Given the description of an element on the screen output the (x, y) to click on. 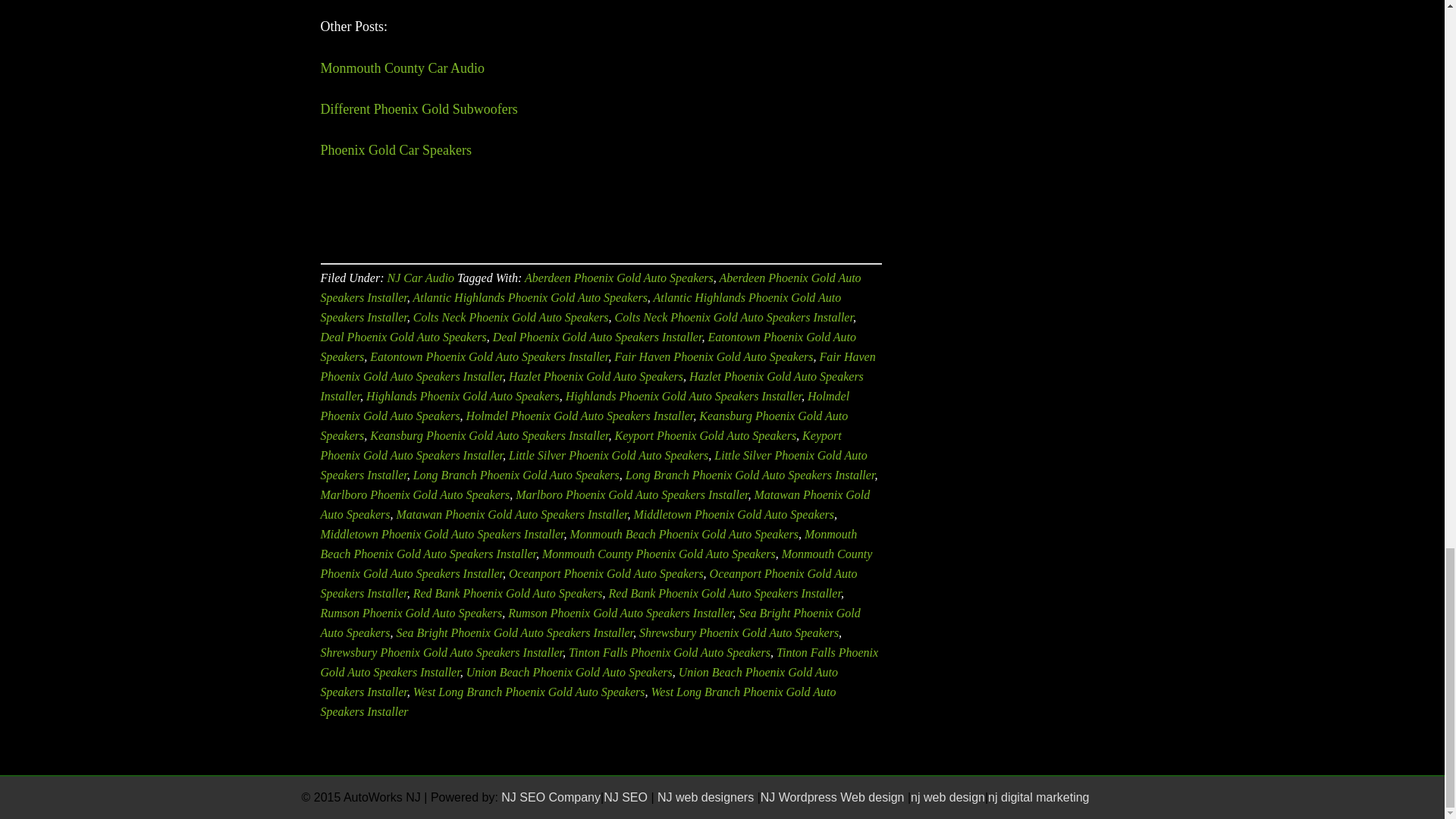
Phoenix Gold Car Speakers (395, 150)
Holmdel Phoenix Gold Auto Speakers (584, 405)
Highlands Phoenix Gold Auto Speakers (462, 395)
Atlantic Highlands Phoenix Gold Auto Speakers (529, 297)
Holmdel Phoenix Gold Auto Speakers Installer (579, 415)
Hazlet Phoenix Gold Auto Speakers (595, 376)
Hazlet Phoenix Gold Auto Speakers Installer (591, 386)
Keyport Phoenix Gold Auto Speakers Installer (580, 445)
Fair Haven Phoenix Gold Auto Speakers (713, 356)
Atlantic Highlands Phoenix Gold Auto Speakers Installer (580, 307)
Eatontown Phoenix Gold Auto Speakers (588, 346)
NJ Car Audio (420, 277)
Little Silver Phoenix Gold Auto Speakers (607, 454)
Aberdeen Phoenix Gold Auto Speakers (618, 277)
Eatontown Phoenix Gold Auto Speakers Installer (488, 356)
